Given the description of an element on the screen output the (x, y) to click on. 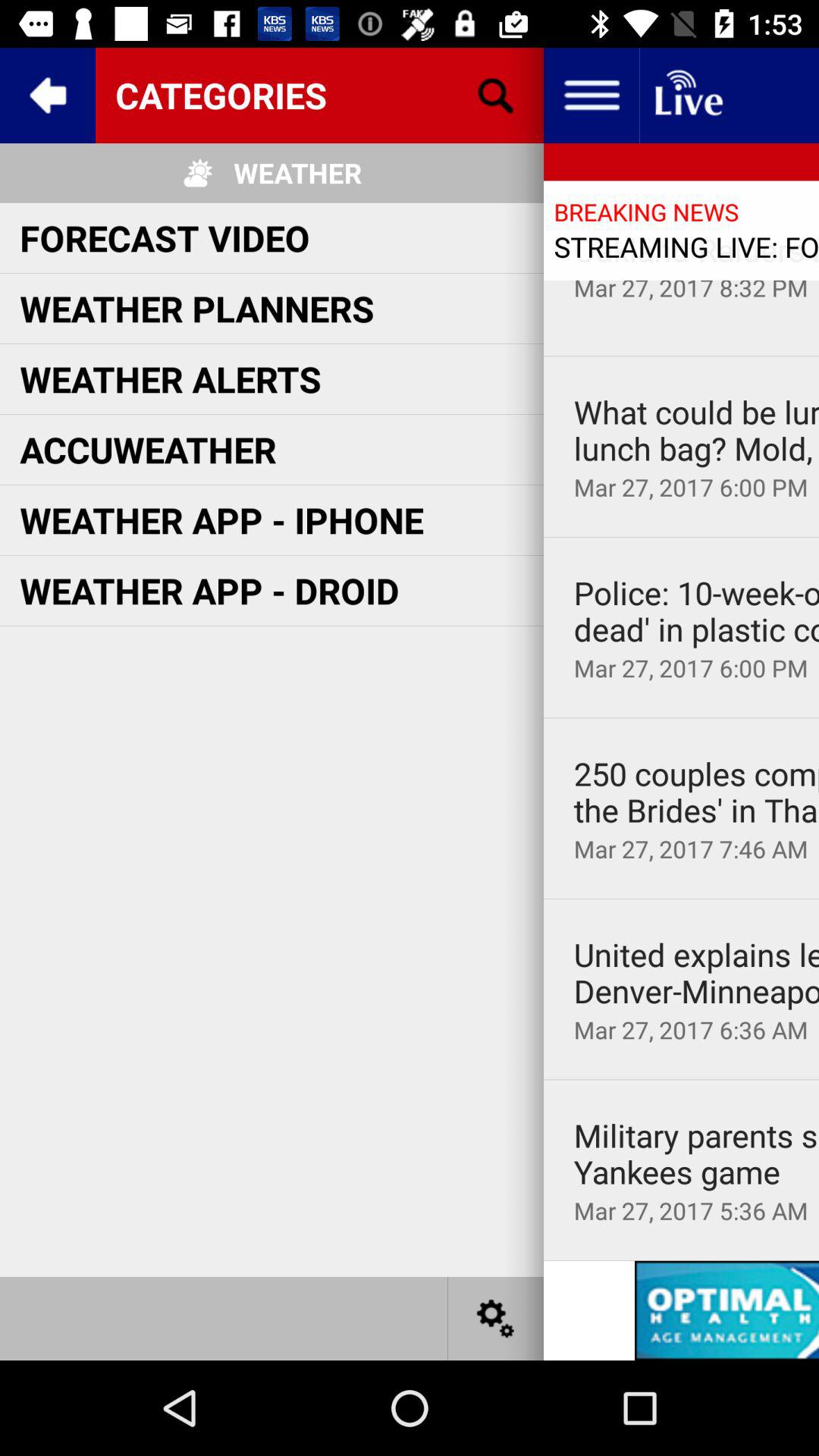
select the icon below the weather alerts (147, 449)
